Given the description of an element on the screen output the (x, y) to click on. 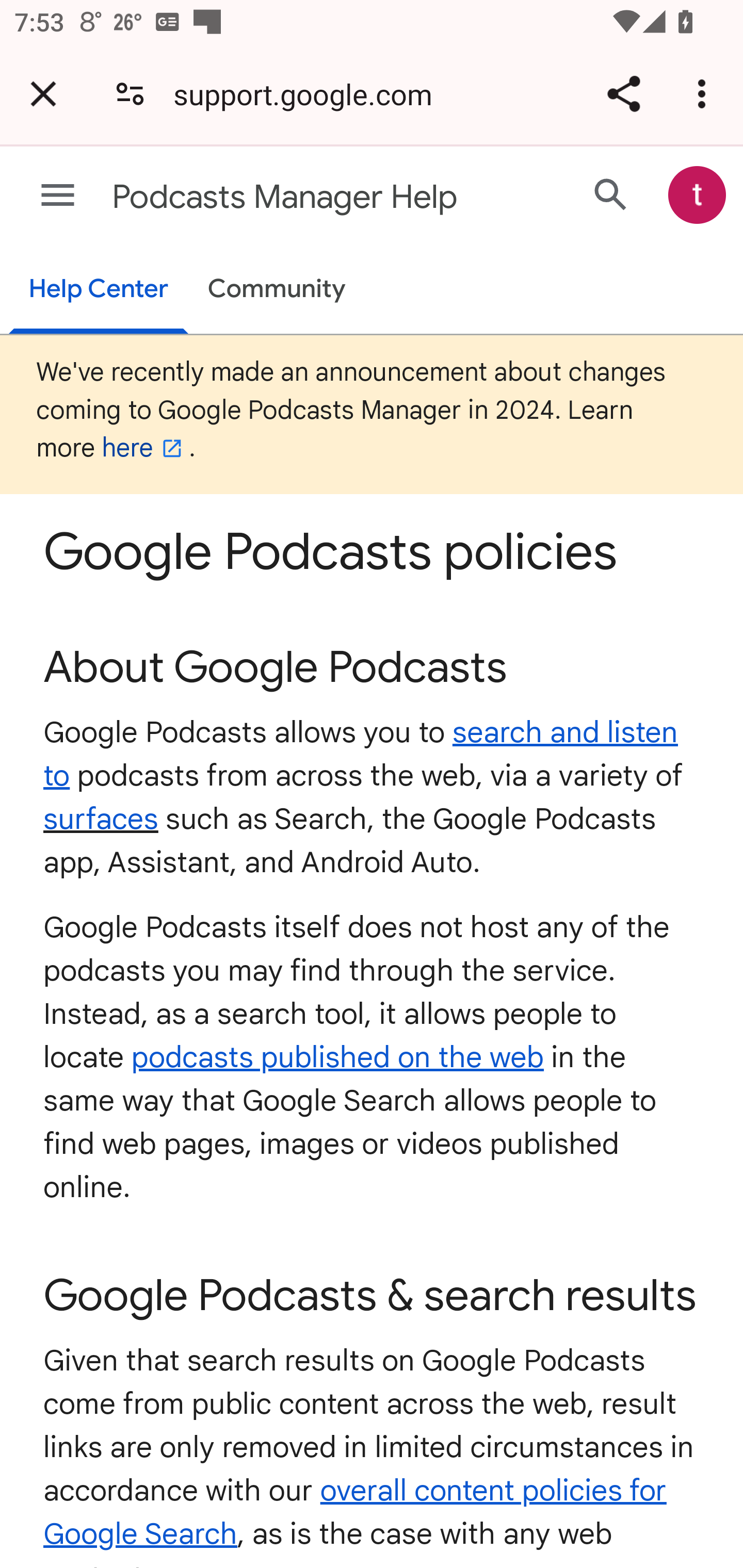
Close tab (43, 93)
Share (623, 93)
Customize and control Google Chrome (705, 93)
Connection is secure (129, 93)
support.google.com (310, 93)
Main menu (58, 195)
Podcasts Manager Help (292, 197)
Search Help Center (611, 194)
Help Center (98, 289)
Community (276, 289)
here (145, 447)
search and listen to (361, 753)
surfaces (101, 818)
podcasts published on the web (337, 1056)
overall content policies for Google Search (355, 1511)
